Given the description of an element on the screen output the (x, y) to click on. 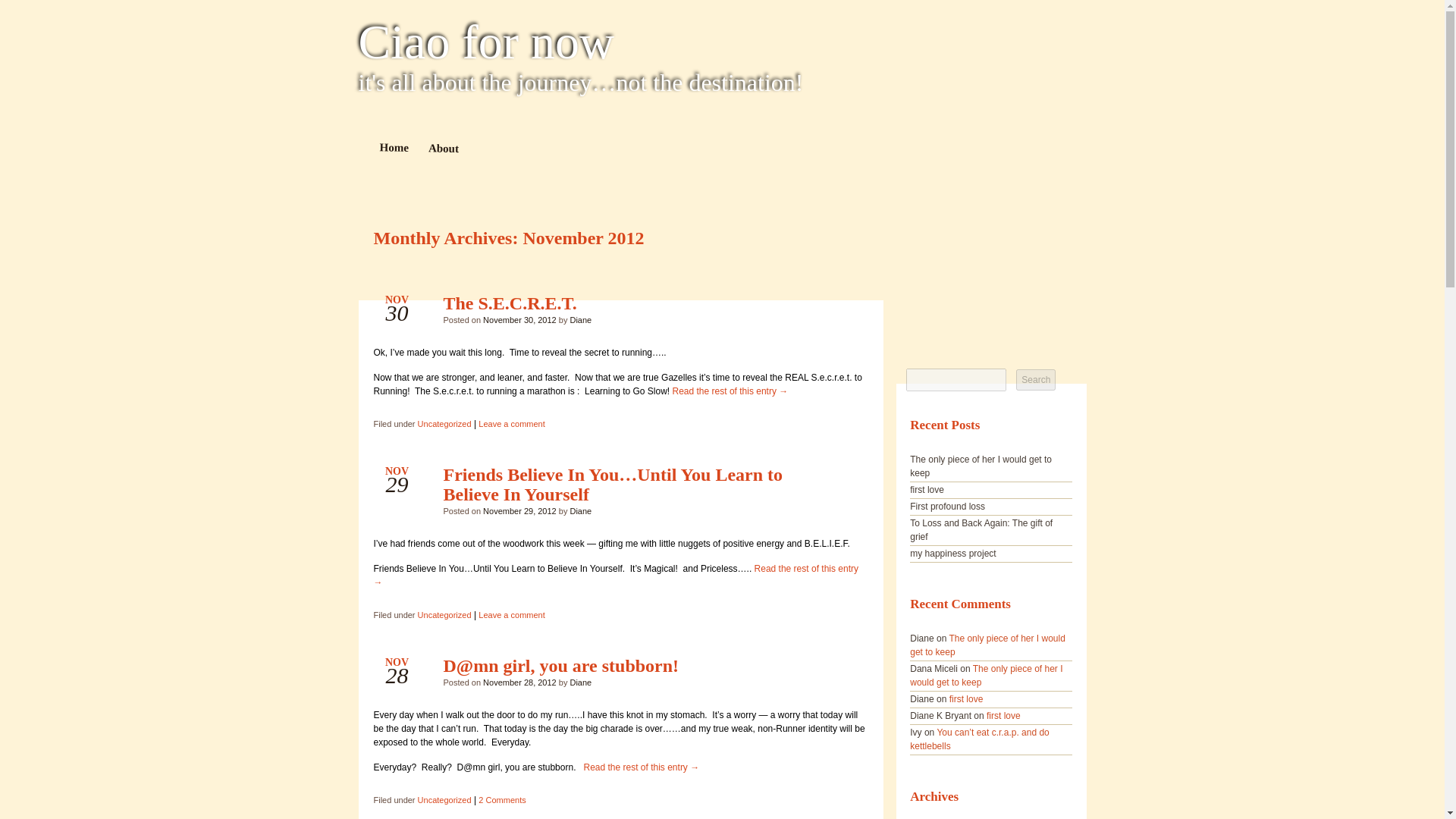
11:47 am (519, 319)
The S.E.C.R.E.T. (509, 302)
7:23 pm (519, 510)
Ciao for now (722, 42)
Search (1035, 379)
View all posts by Diane (580, 319)
4:18 pm (519, 682)
November 29, 2012 (519, 510)
Uncategorized (444, 799)
2 Comments (502, 799)
